Given the description of an element on the screen output the (x, y) to click on. 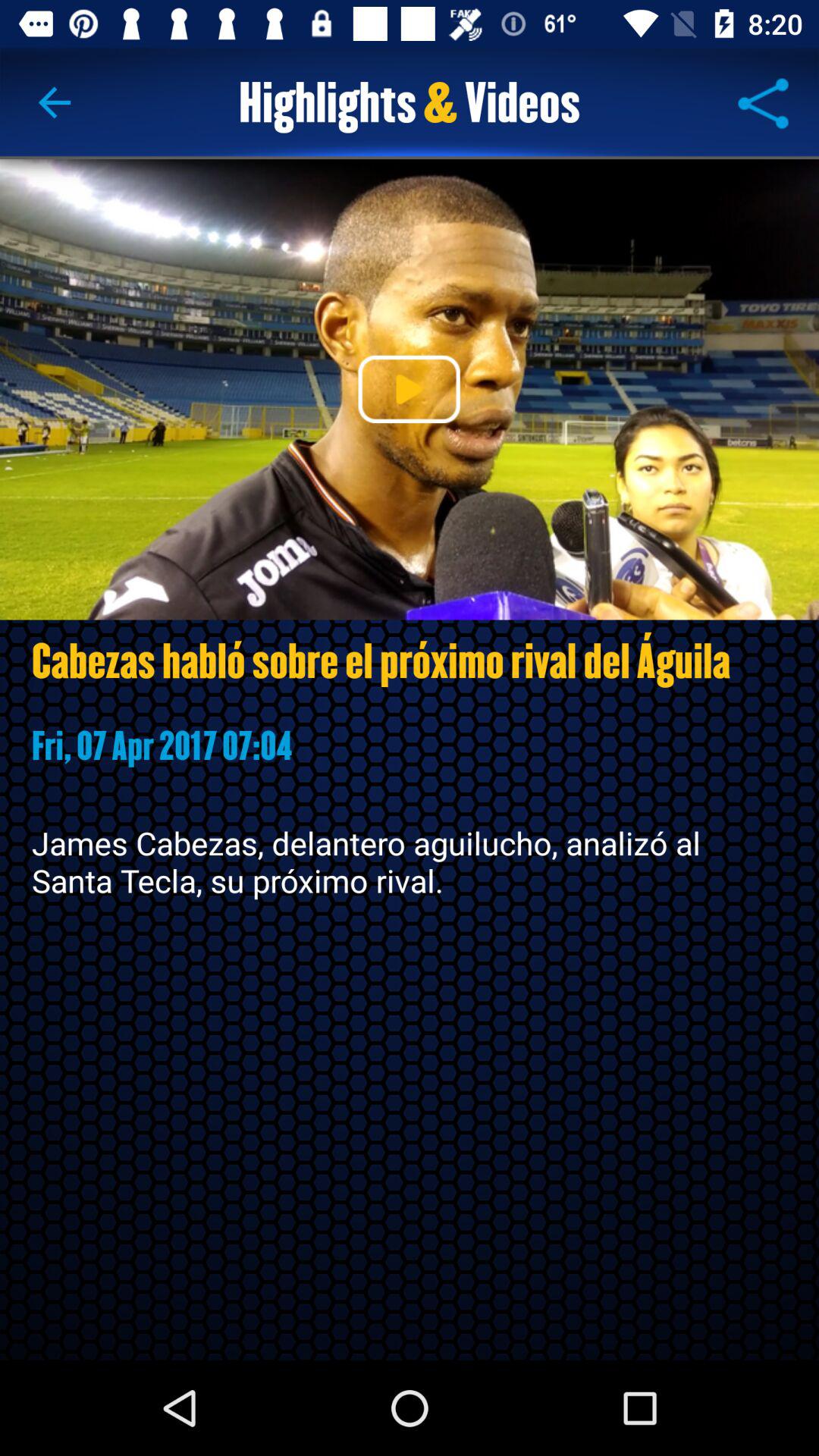
play (409, 389)
